Given the description of an element on the screen output the (x, y) to click on. 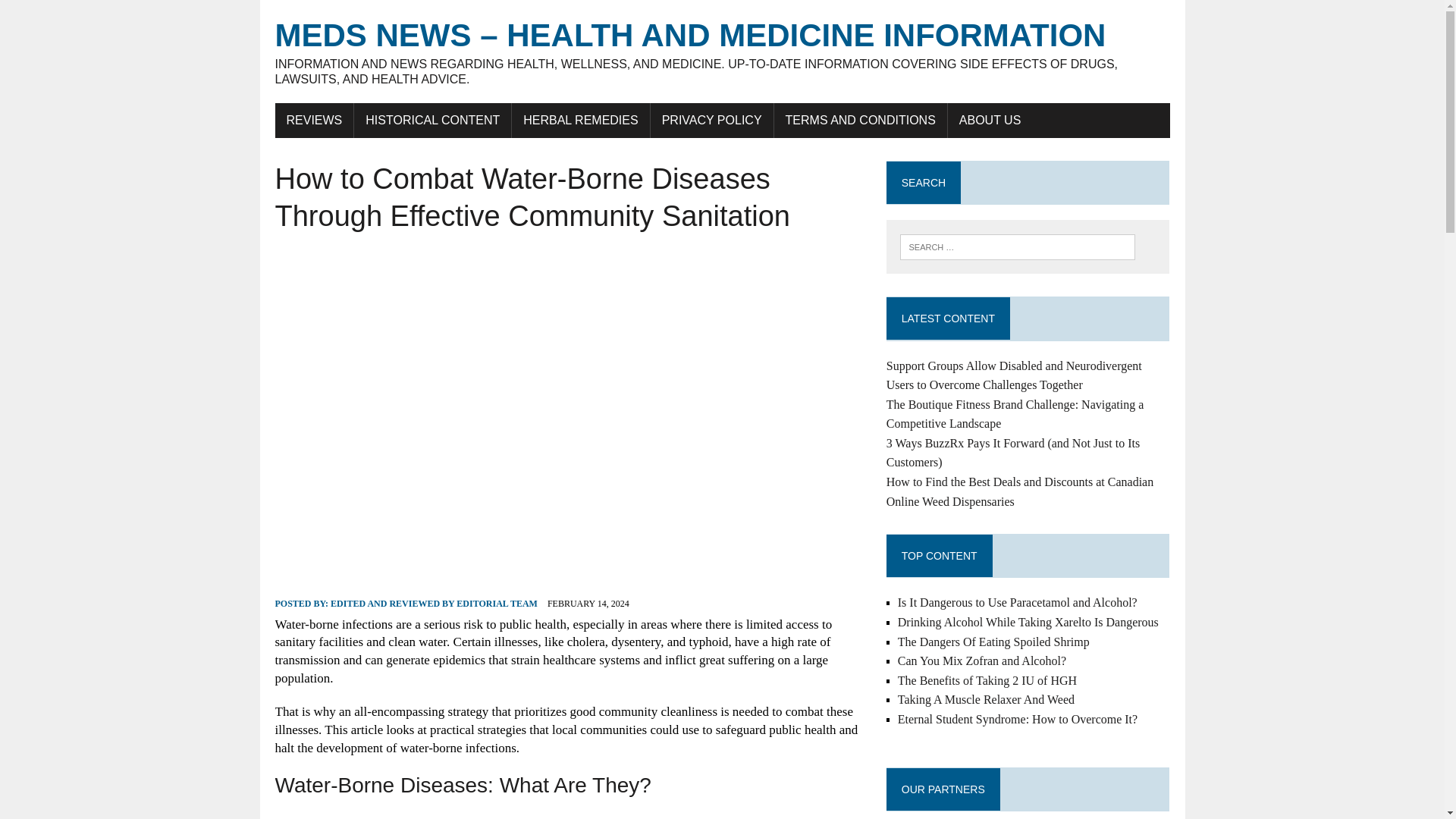
Contaminated water (331, 817)
Is It Dangerous to Use Paracetamol and Alcohol? (1017, 602)
HERBAL REMEDIES (580, 120)
REVIEWS (314, 120)
The Benefits of Taking 2 IU of HGH (987, 680)
Drinking Alcohol While Taking Xarelto Is Dangerous (1028, 621)
Taking A Muscle Relaxer And Weed (986, 698)
The Dangers Of Eating Spoiled Shrimp (993, 641)
ABOUT US (989, 120)
